Given the description of an element on the screen output the (x, y) to click on. 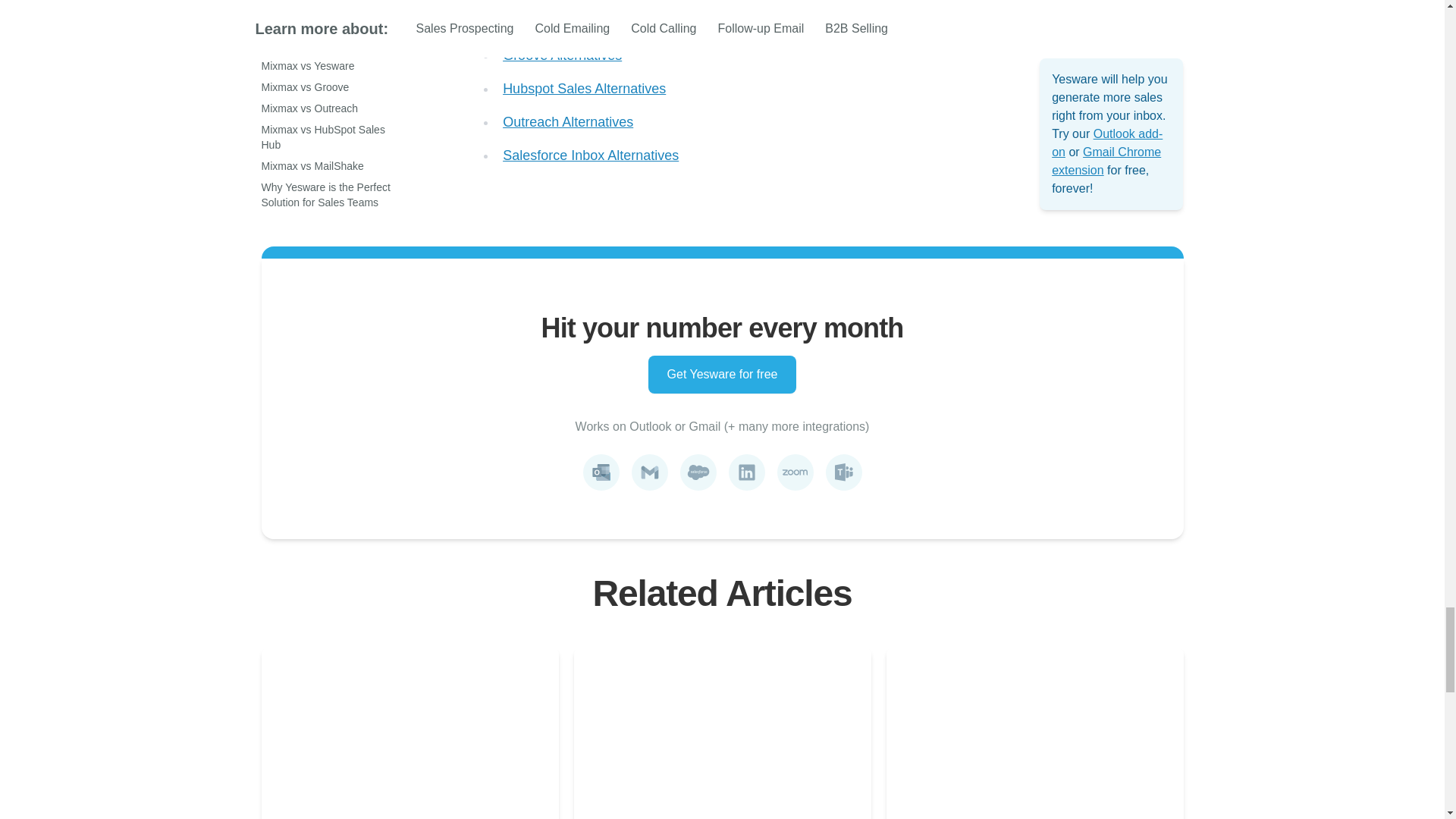
Outreach Alternatives (567, 121)
Salesforce Inbox Alternatives (590, 155)
Get Yesware for free (721, 374)
Reply Alternatives (556, 21)
Groove Alternatives (561, 55)
Hubspot Sales Alternatives (583, 88)
